Given the description of an element on the screen output the (x, y) to click on. 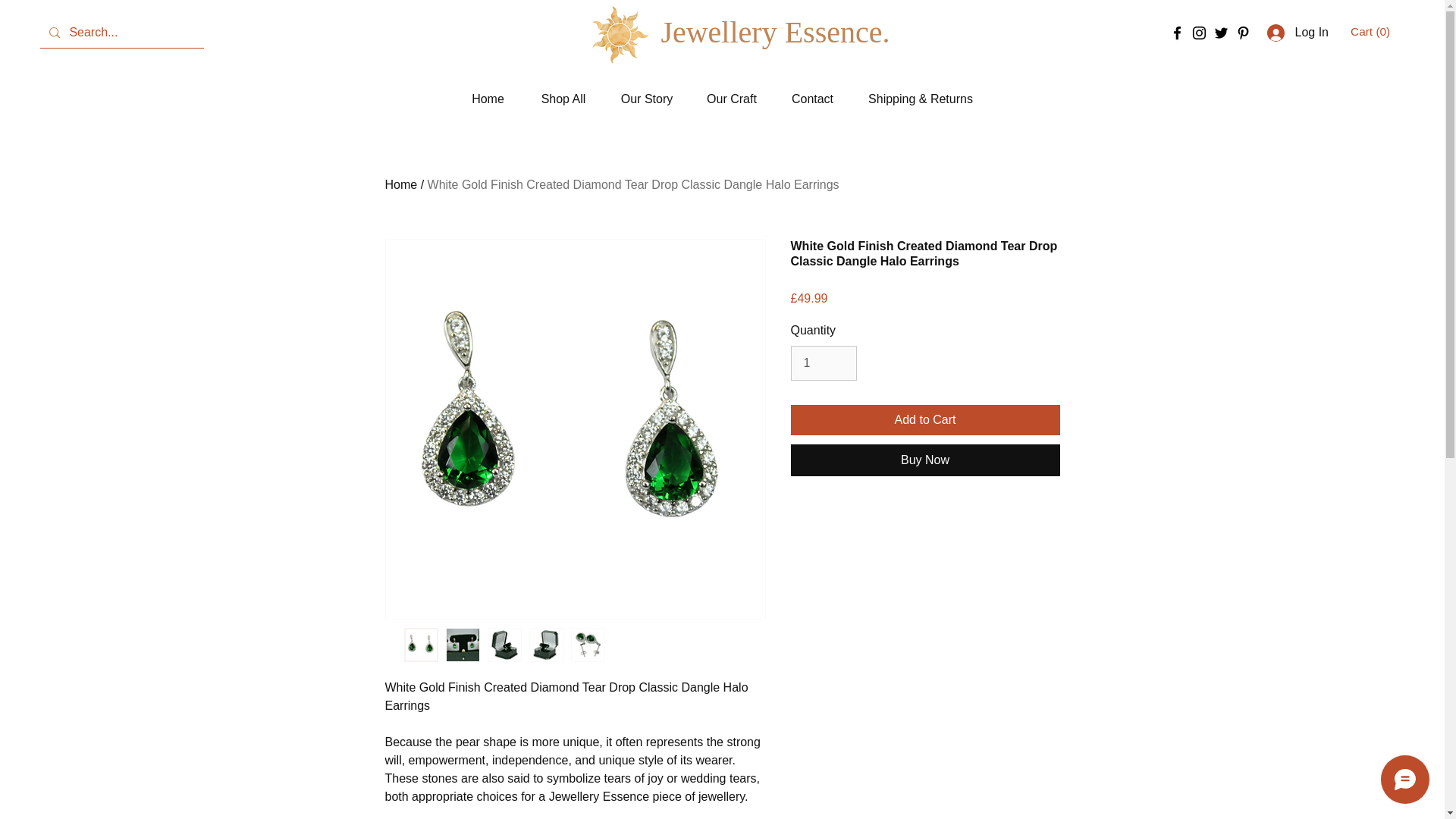
Home (487, 98)
Our Craft (732, 98)
Add to Cart (924, 419)
Log In (1297, 32)
1 (823, 362)
Jewellery Essence. (775, 32)
Buy Now (924, 459)
Home (401, 184)
Contact (811, 98)
Shop All (563, 98)
